Given the description of an element on the screen output the (x, y) to click on. 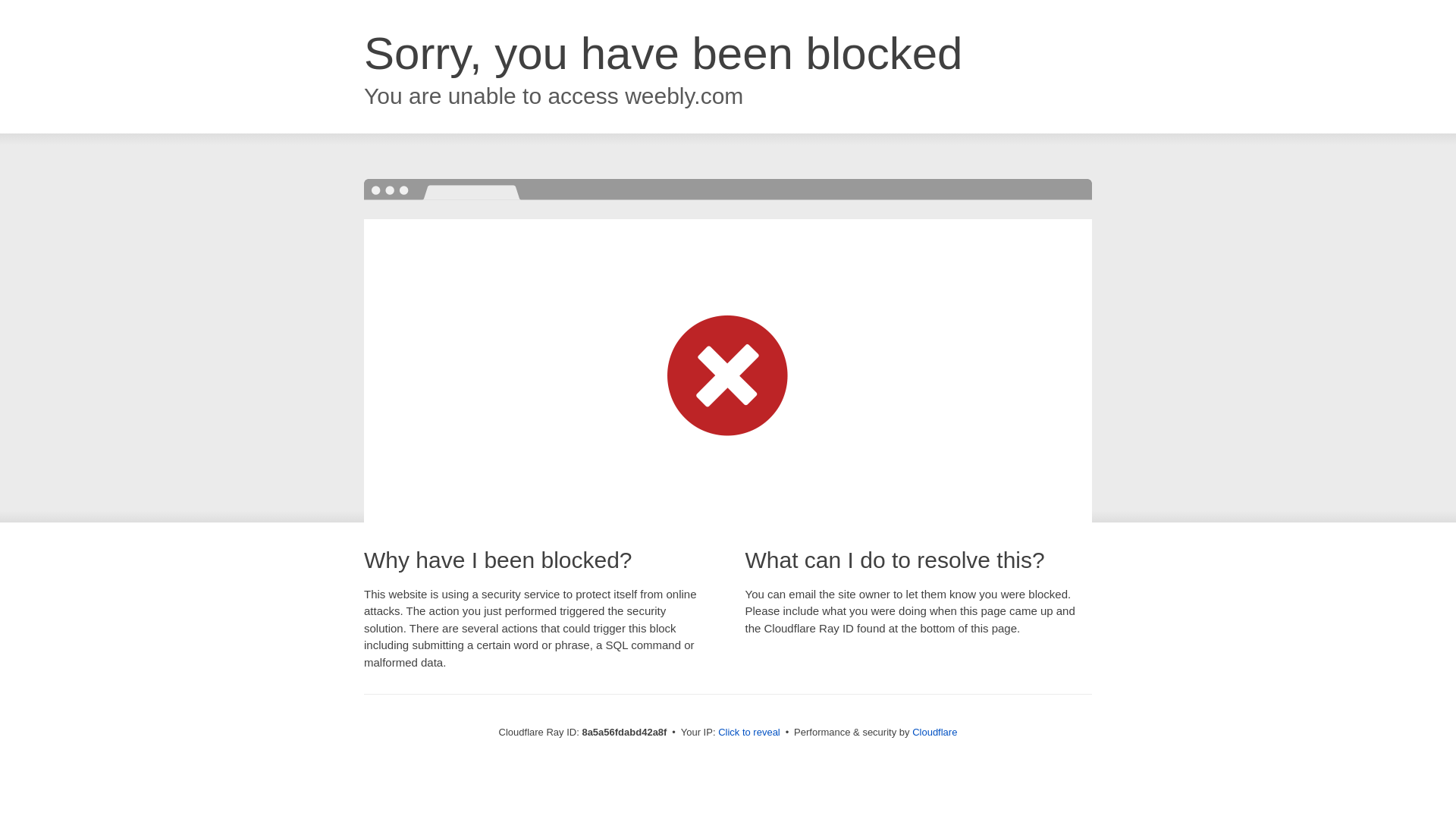
Click to reveal (748, 732)
Cloudflare (934, 731)
